Given the description of an element on the screen output the (x, y) to click on. 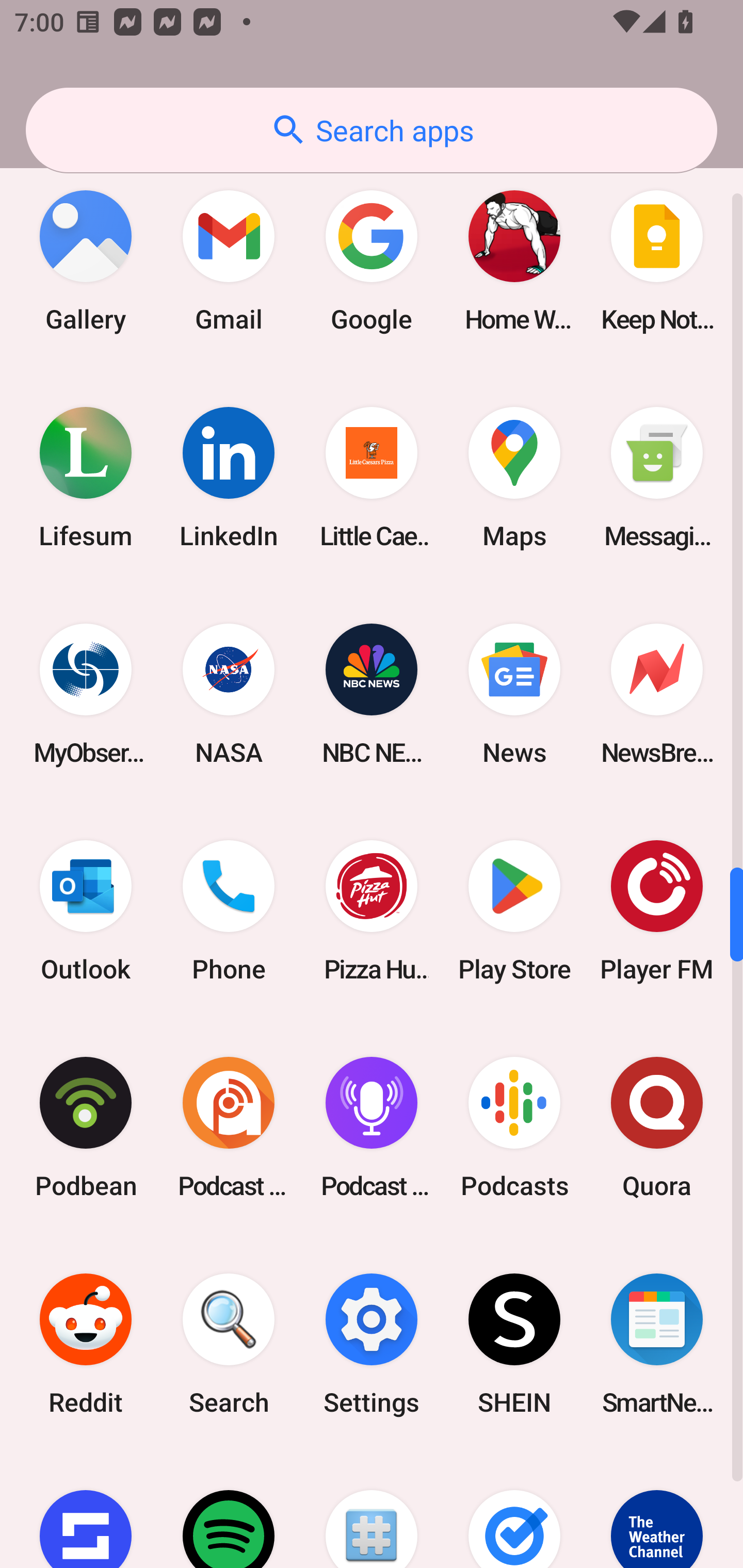
  Search apps (371, 130)
Gallery (85, 261)
Gmail (228, 261)
Google (371, 261)
Home Workout (514, 261)
Keep Notes (656, 261)
Lifesum (85, 478)
LinkedIn (228, 478)
Little Caesars Pizza (371, 478)
Maps (514, 478)
Messaging (656, 478)
MyObservatory (85, 694)
NASA (228, 694)
NBC NEWS (371, 694)
News (514, 694)
NewsBreak (656, 694)
Outlook (85, 910)
Phone (228, 910)
Pizza Hut HK & Macau (371, 910)
Play Store (514, 910)
Player FM (656, 910)
Podbean (85, 1127)
Podcast Addict (228, 1127)
Podcast Player (371, 1127)
Podcasts (514, 1127)
Quora (656, 1127)
Reddit (85, 1343)
Search (228, 1343)
Settings (371, 1343)
SHEIN (514, 1343)
SmartNews (656, 1343)
Sofascore (85, 1509)
Spotify (228, 1509)
Superuser (371, 1509)
Tasks (514, 1509)
The Weather Channel (656, 1509)
